Given the description of an element on the screen output the (x, y) to click on. 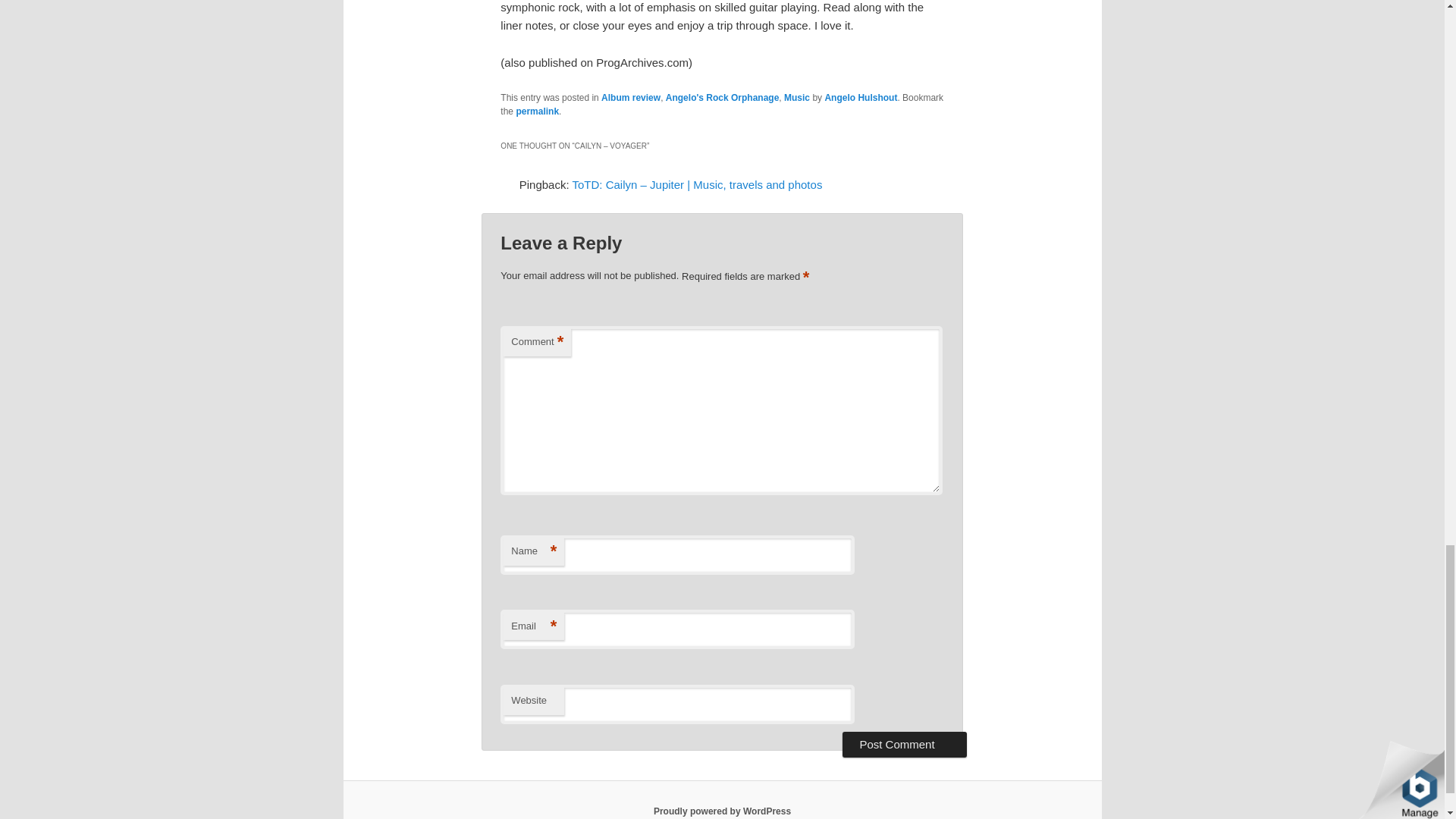
Angelo's Rock Orphanage (721, 97)
Angelo Hulshout (860, 97)
Album review (631, 97)
Semantic Personal Publishing Platform (721, 810)
permalink (537, 111)
Proudly powered by WordPress (721, 810)
Post Comment (904, 744)
Post Comment (904, 744)
Music (796, 97)
